Given the description of an element on the screen output the (x, y) to click on. 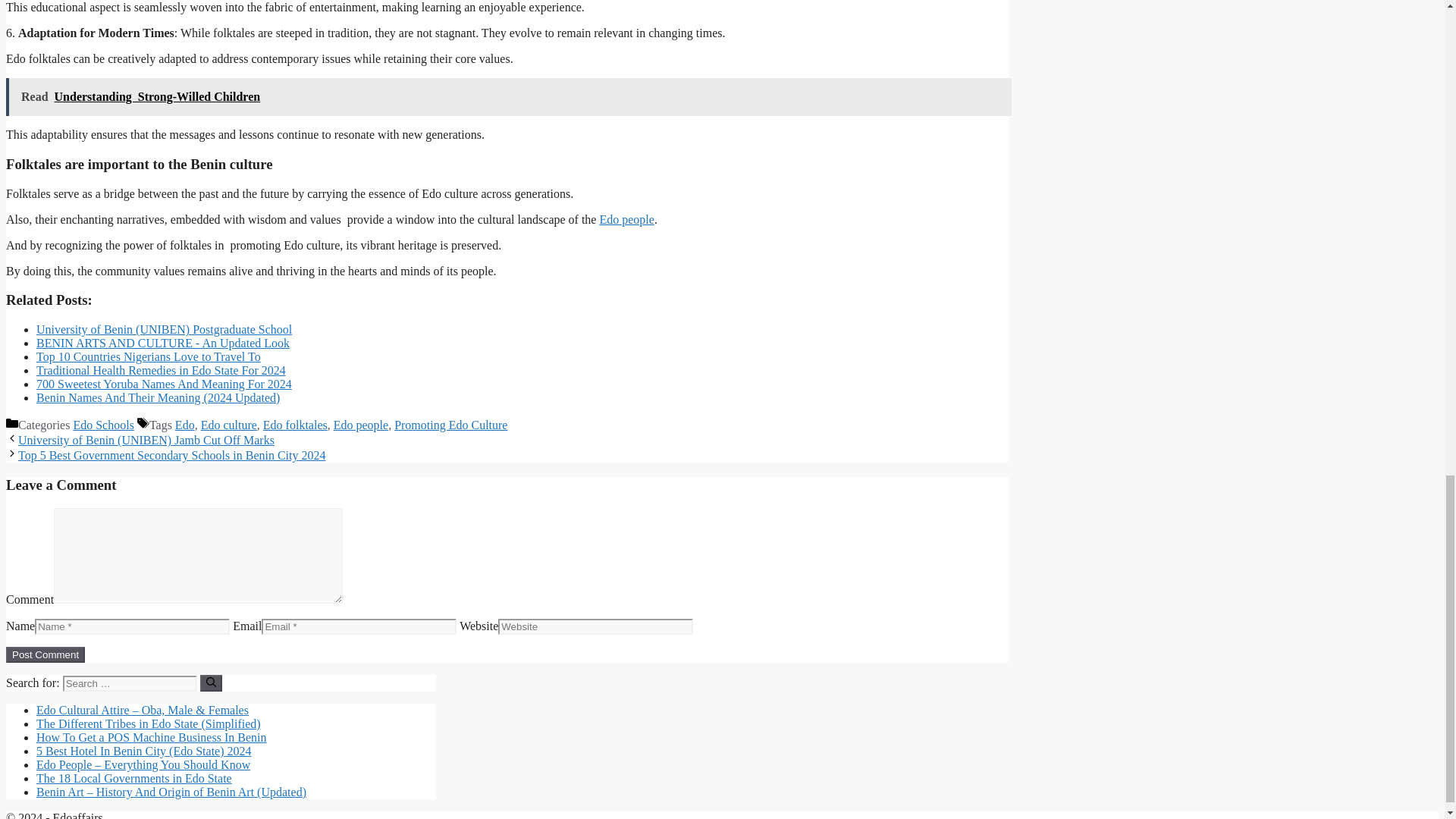
700 Sweetest Yoruba Names And Meaning For 2024 (164, 383)
Post Comment (44, 654)
Top 5 Best Government Secondary Schools in Benin City 2024 (171, 454)
Edo Schools (102, 424)
How To Get a POS Machine Business In Benin (151, 737)
BENIN ARTS AND CULTURE - An Updated Look (162, 342)
Edo people (360, 424)
Top 10 Countries Nigerians Love to Travel To (148, 356)
Read  Understanding  Strong-Willed Children (508, 96)
Edo (184, 424)
Post Comment (44, 654)
Search for: (129, 683)
Edo culture (228, 424)
Promoting Edo Culture (450, 424)
Edo folktales (295, 424)
